Given the description of an element on the screen output the (x, y) to click on. 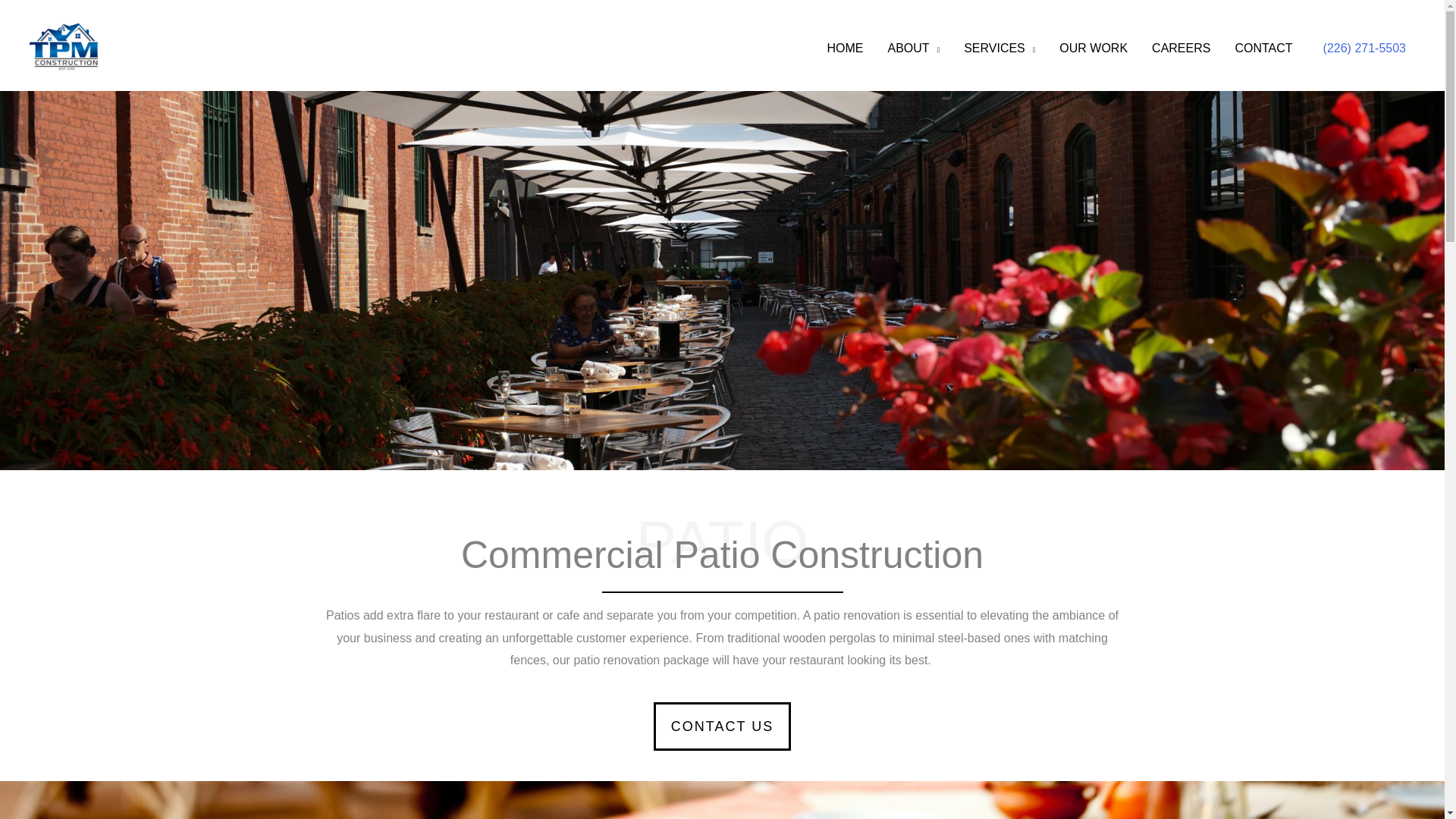
SERVICES (999, 48)
ABOUT (914, 48)
HOME (845, 48)
OUR WORK (1093, 48)
CONTACT (1263, 48)
CONTACT US (721, 726)
CAREERS (1181, 48)
